Given the description of an element on the screen output the (x, y) to click on. 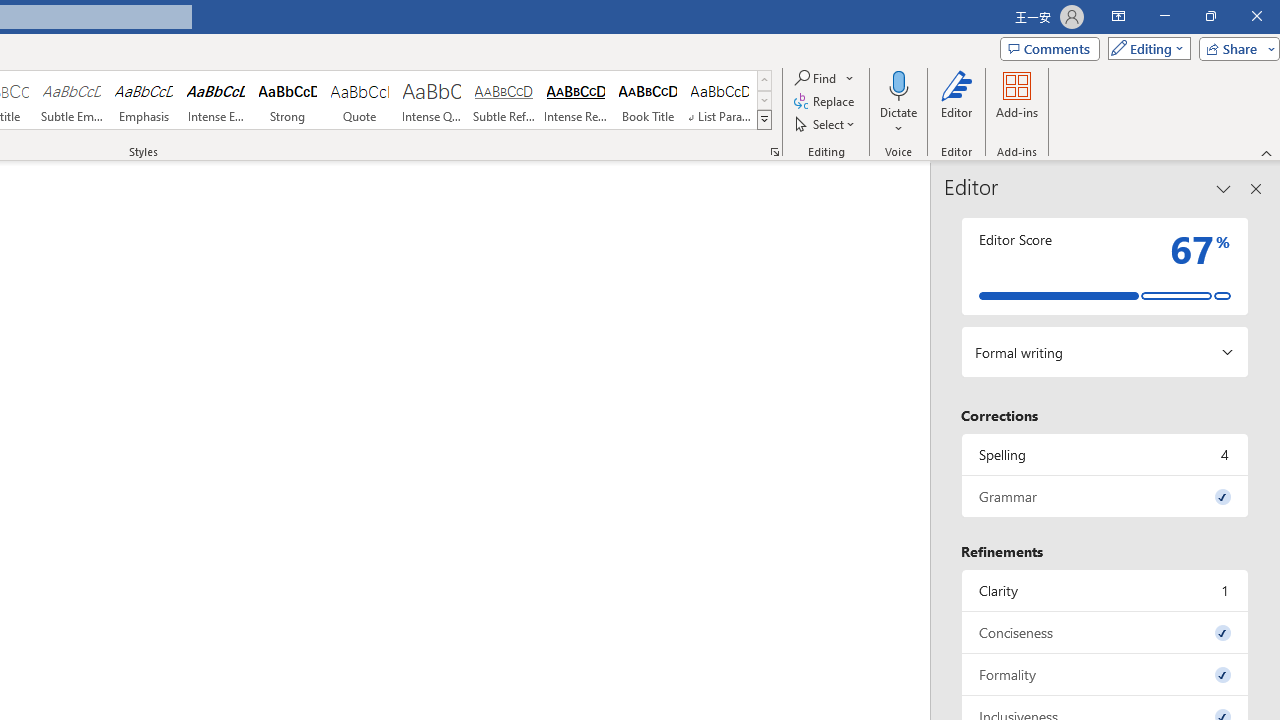
Ribbon Display Options (1118, 16)
Editing (1144, 47)
Task Pane Options (1224, 188)
Clarity, 1 issue. Press space or enter to review items. (1105, 590)
More Options (899, 121)
Collapse the Ribbon (1267, 152)
Book Title (647, 100)
Dictate (899, 84)
Close (1256, 16)
Replace... (826, 101)
Close pane (1256, 188)
Styles... (774, 151)
Subtle Emphasis (71, 100)
